Given the description of an element on the screen output the (x, y) to click on. 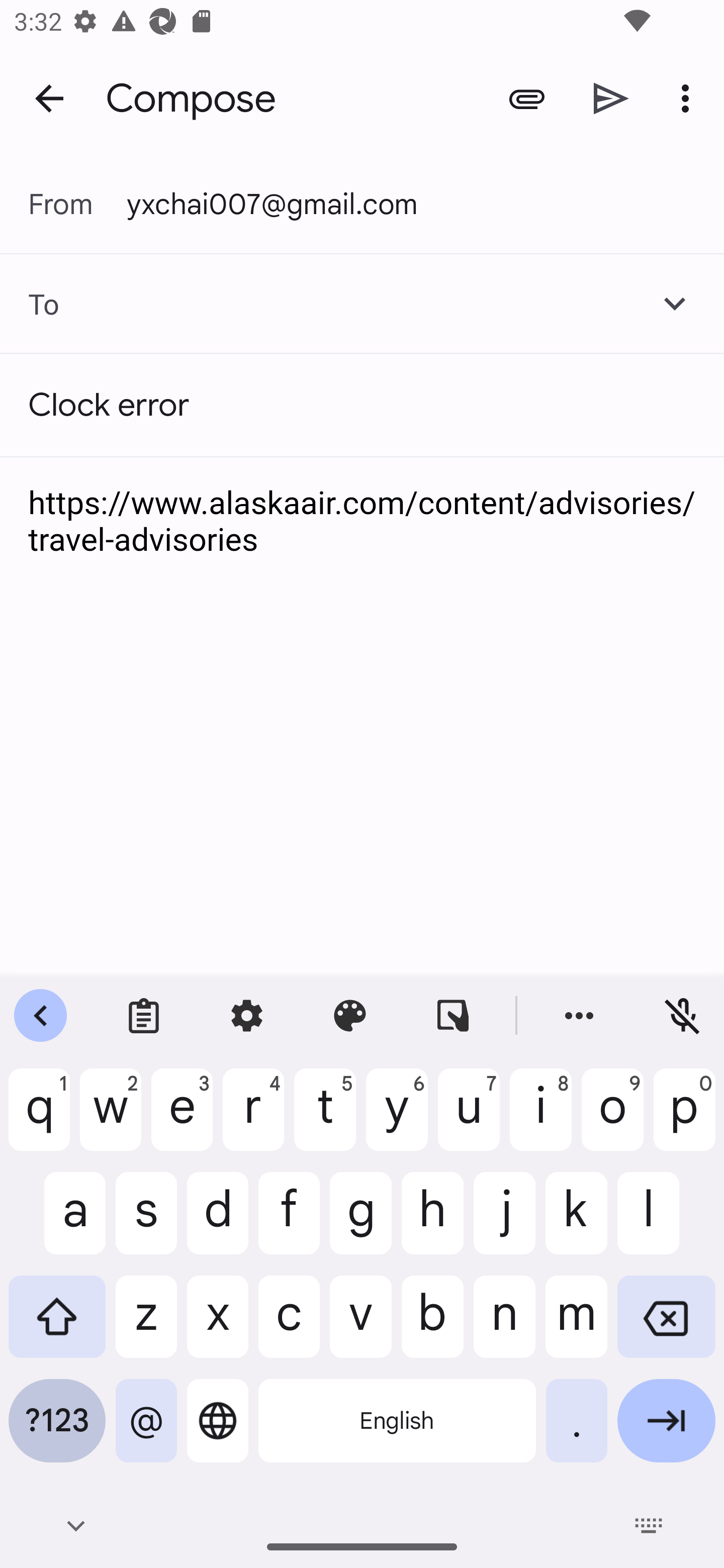
Navigate up (49, 97)
Attach file (526, 98)
Send (611, 98)
More options (688, 98)
From (77, 204)
Add Cc/Bcc (674, 303)
To (30, 303)
Clock error (361, 405)
